Given the description of an element on the screen output the (x, y) to click on. 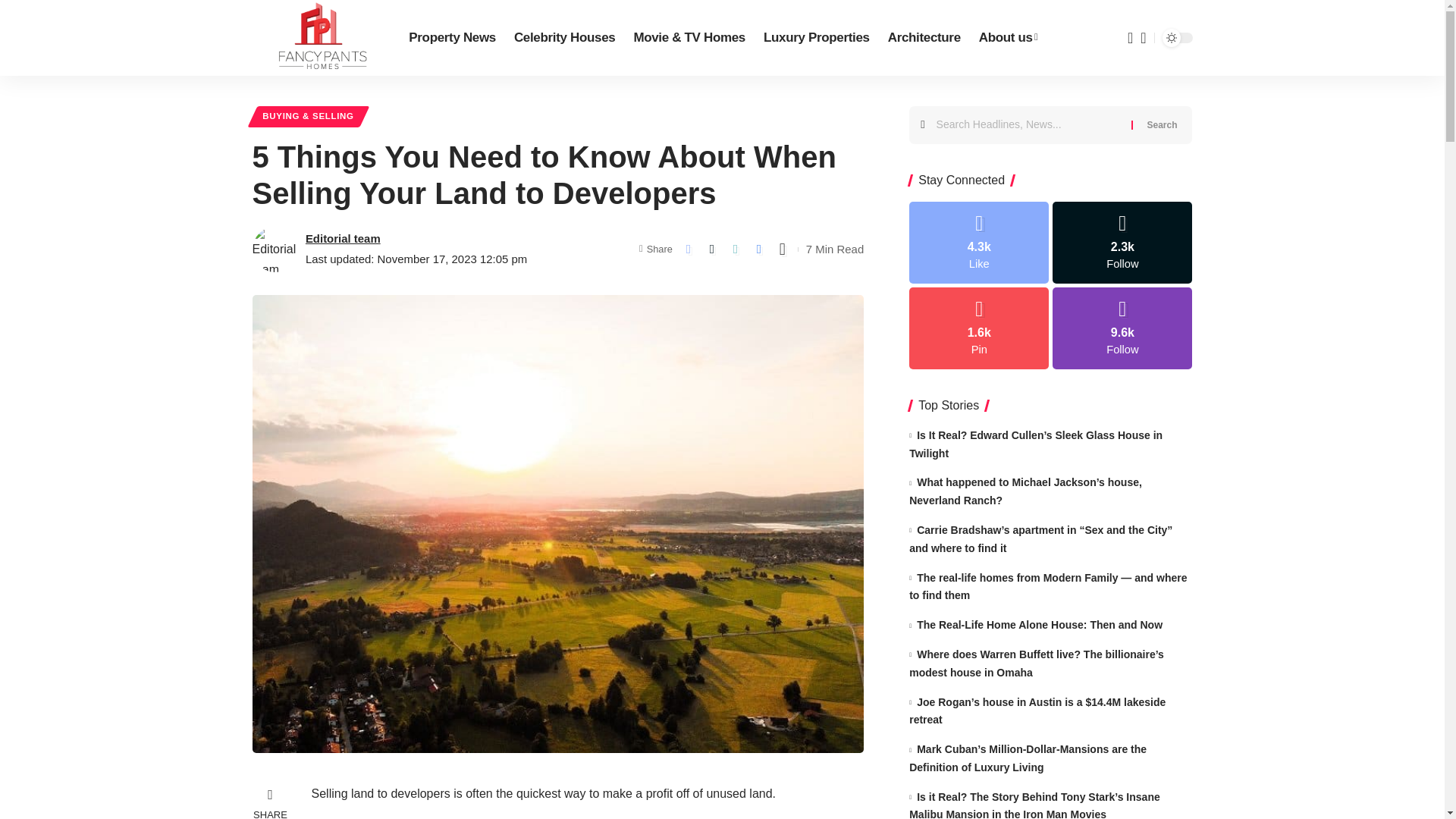
Property news  (451, 37)
Architecture (924, 37)
Property News (451, 37)
Celebrity Houses (564, 37)
Luxury Properties (816, 37)
Editorial team (342, 238)
Search (1161, 125)
Fancy Pants Homes (317, 38)
About us (1007, 37)
